Given the description of an element on the screen output the (x, y) to click on. 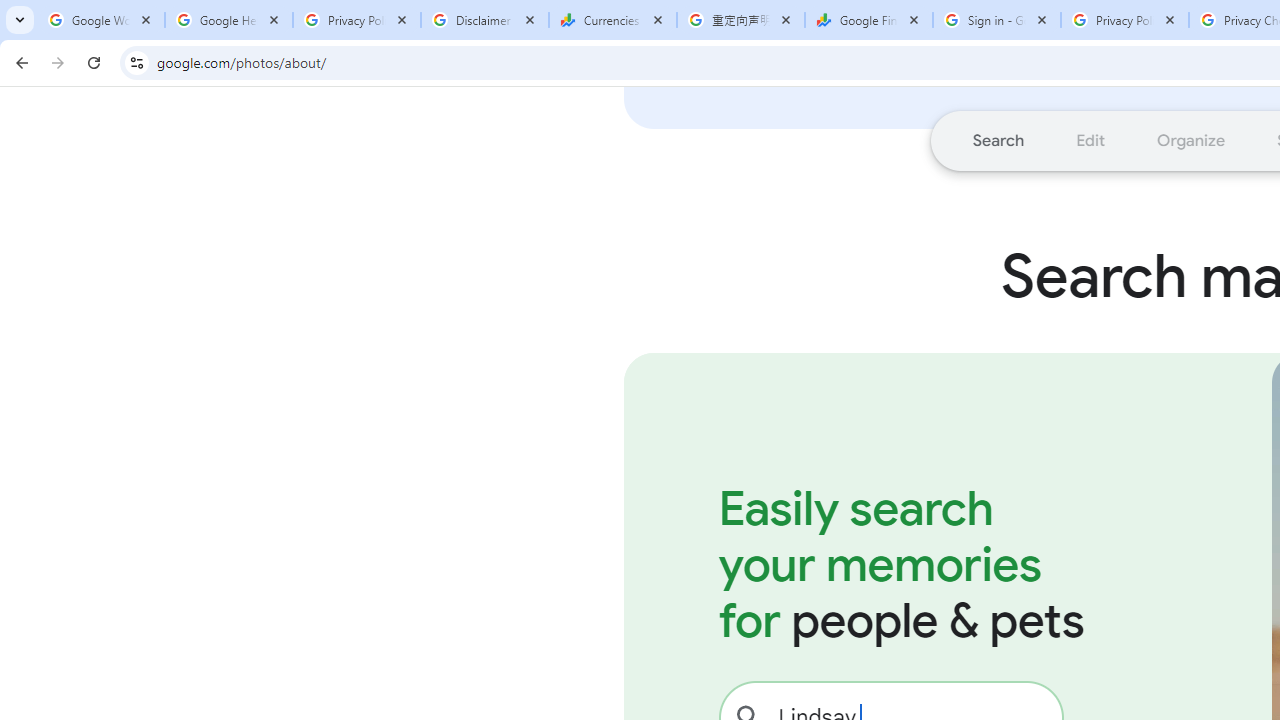
Currencies - Google Finance (613, 20)
Sign in - Google Accounts (997, 20)
